Given the description of an element on the screen output the (x, y) to click on. 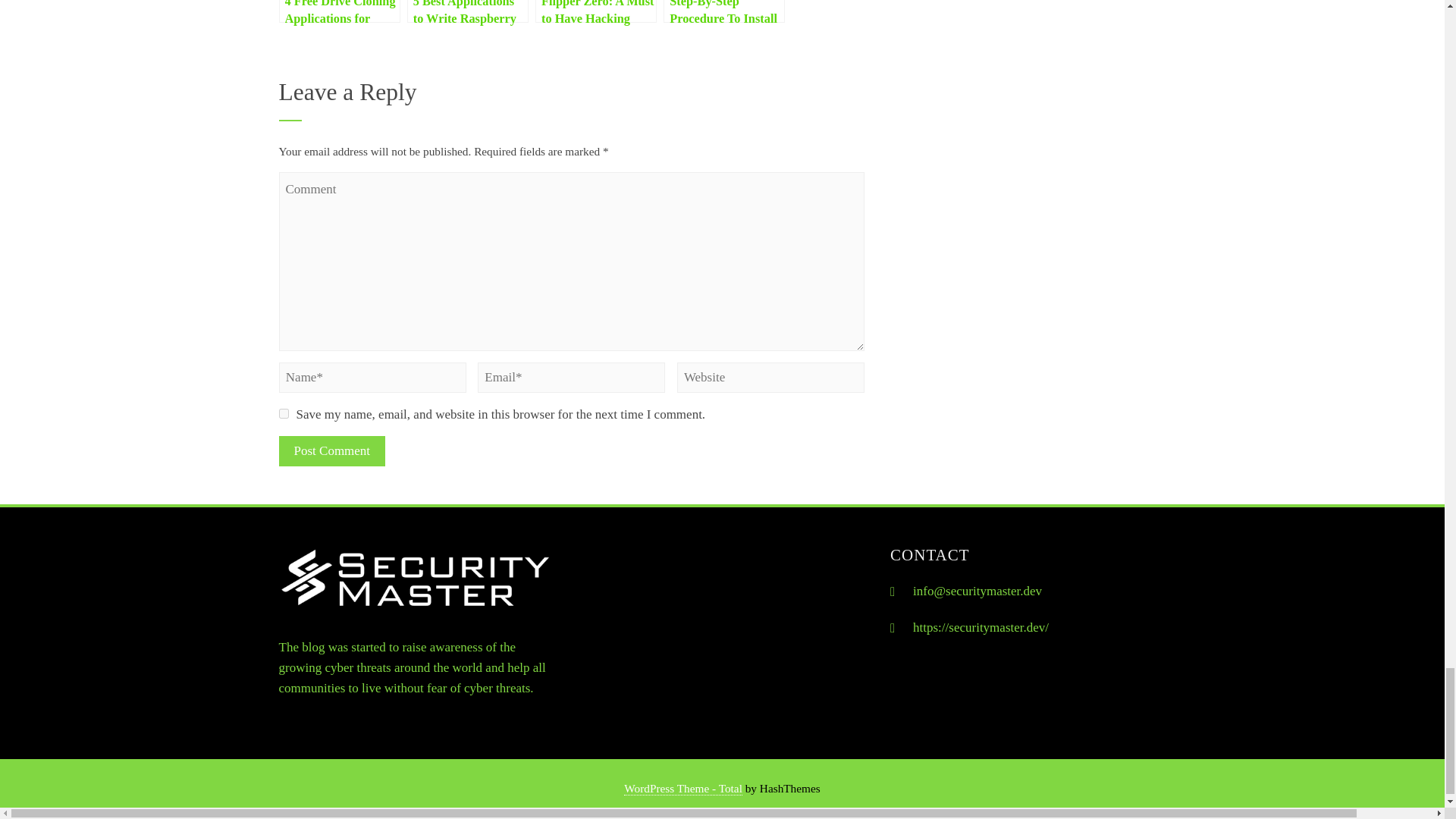
4 Free Drive Cloning Applications for Windows and Linux (339, 11)
Post Comment (332, 450)
yes (283, 413)
